Given the description of an element on the screen output the (x, y) to click on. 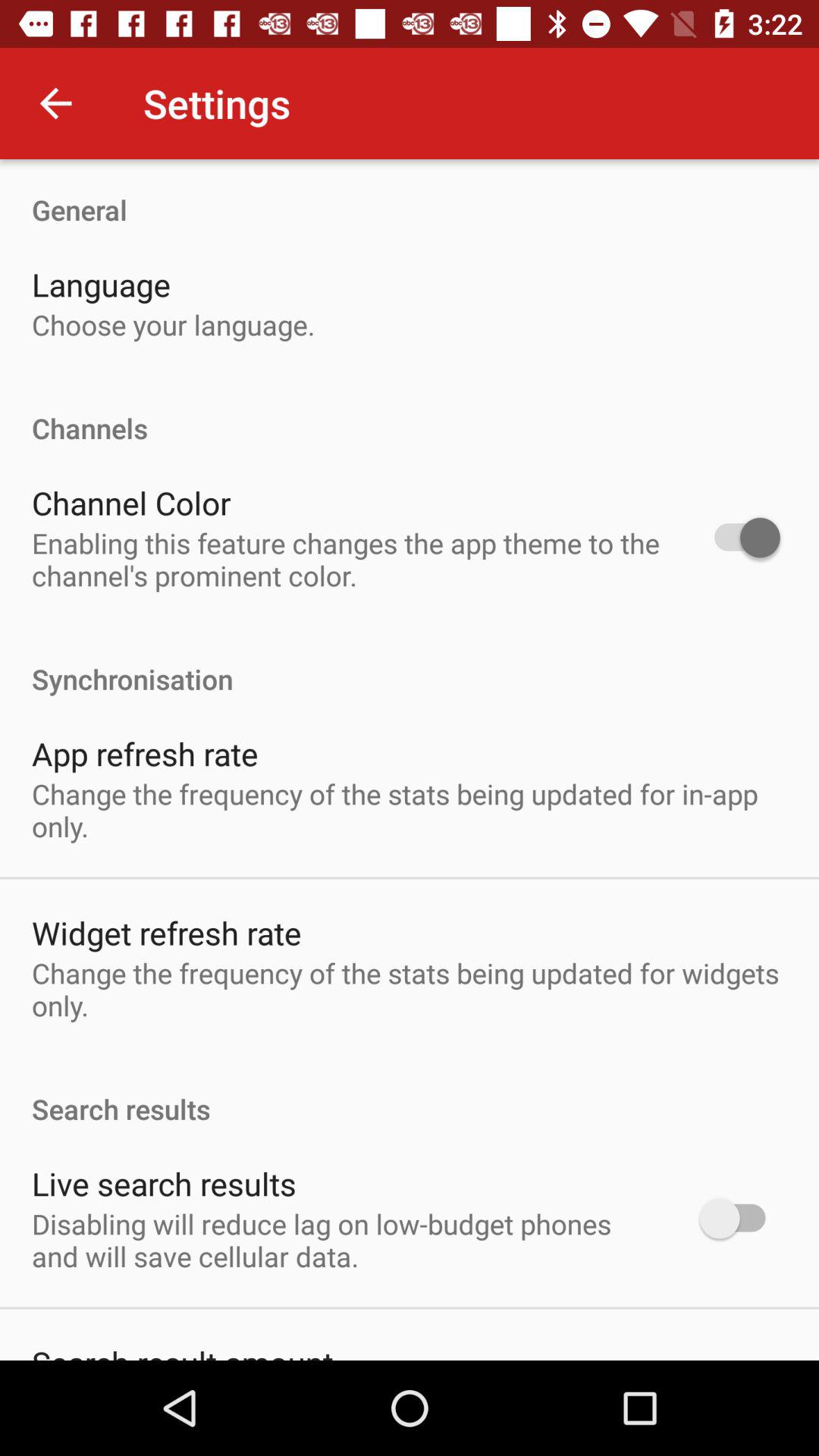
flip until the enabling this feature (345, 559)
